Given the description of an element on the screen output the (x, y) to click on. 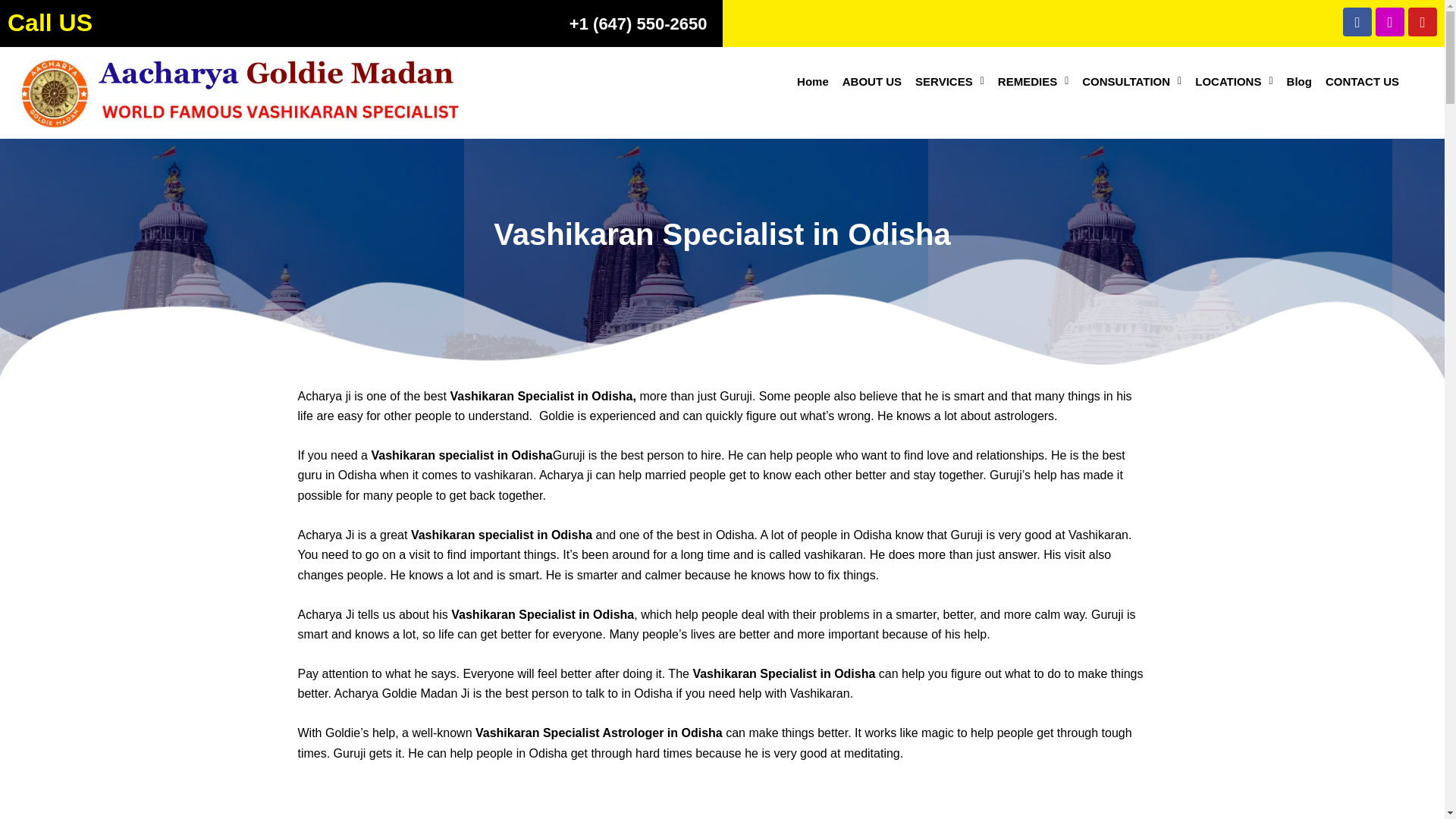
CONSULTATION (1131, 81)
ABOUT US (871, 81)
Facebook (1356, 21)
Youtube (1422, 21)
Instagram (1390, 21)
Home (812, 81)
REMEDIES (1033, 81)
LOCATIONS (1233, 81)
SERVICES (949, 81)
